Given the description of an element on the screen output the (x, y) to click on. 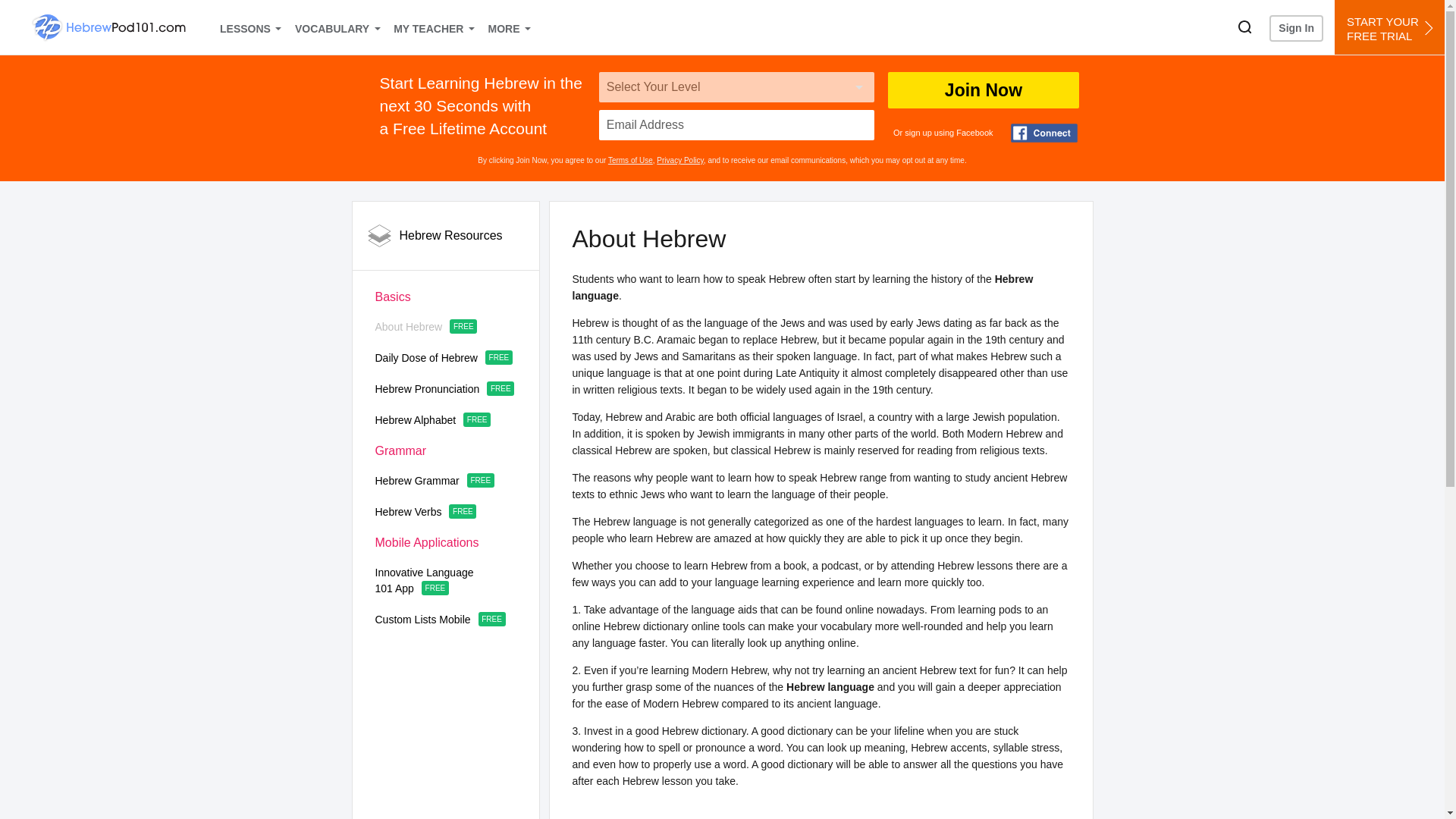
MY TEACHER (432, 27)
LESSONS (249, 27)
VOCABULARY (335, 27)
Sign In (1296, 28)
MORE (507, 27)
